Given the description of an element on the screen output the (x, y) to click on. 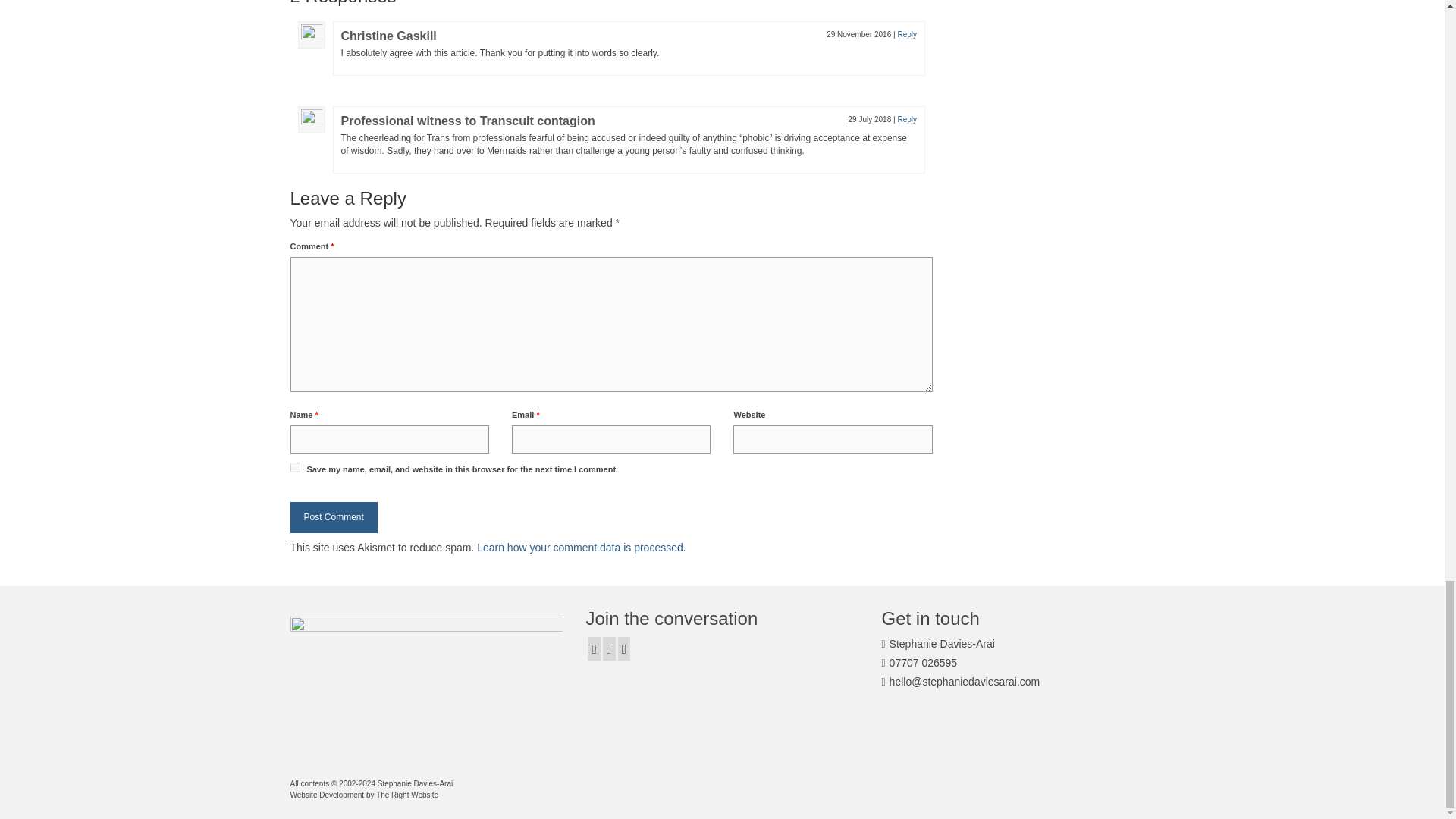
Post Comment (333, 517)
yes (294, 467)
